Given the description of an element on the screen output the (x, y) to click on. 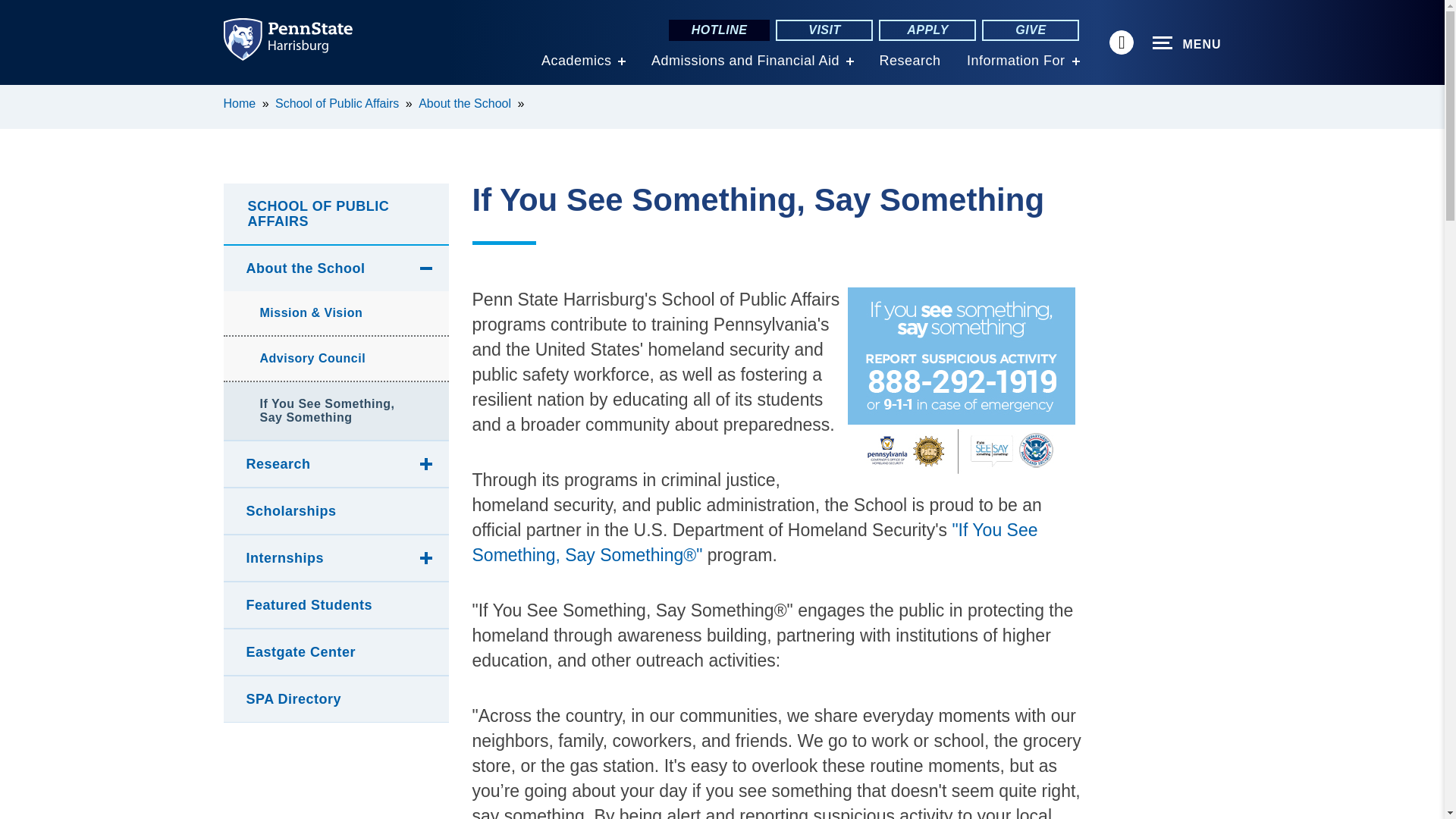
Information For (1015, 60)
Academics (576, 60)
SKIP TO MAIN CONTENT (19, 95)
Research (909, 60)
MENU (1187, 43)
Admissions and Financial Aid (745, 60)
HOTLINE (719, 29)
GIVE (1029, 29)
VISIT (824, 29)
APPLY (927, 29)
